Given the description of an element on the screen output the (x, y) to click on. 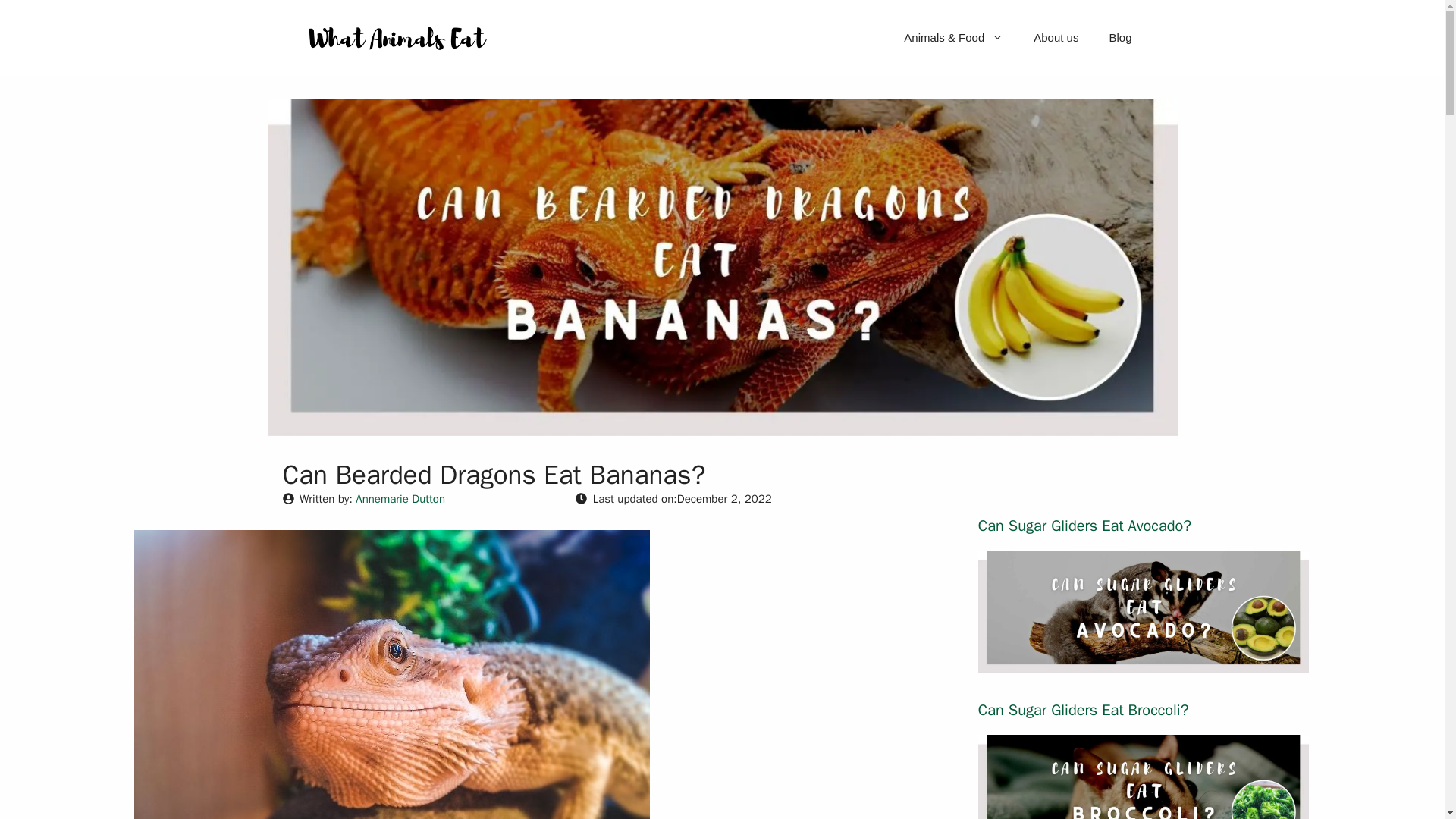
Can Sugar Gliders Eat Avocado? (1143, 662)
Blog (1120, 37)
Annemarie Dutton (400, 499)
About us (1055, 37)
Can Sugar Gliders Eat Broccoli? (1083, 710)
Can Sugar Gliders Eat Avocado? (1084, 525)
